Given the description of an element on the screen output the (x, y) to click on. 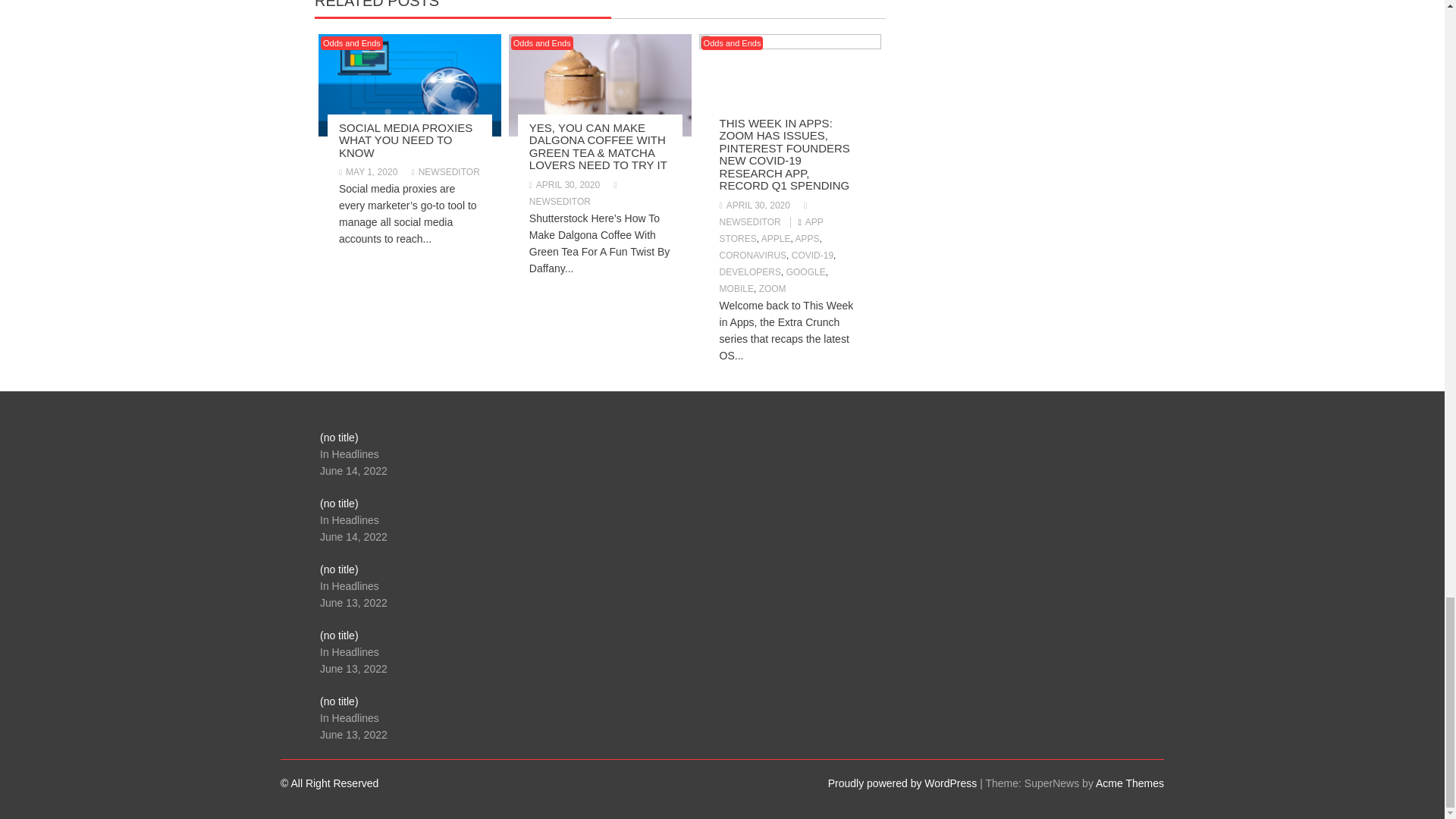
MAY 1, 2020 (368, 172)
NEWSEDITOR (575, 193)
SOCIAL MEDIA PROXIES WHAT YOU NEED TO KNOW (405, 139)
APRIL 30, 2020 (564, 184)
Odds and Ends (351, 42)
Odds and Ends (542, 42)
NEWSEDITOR (446, 172)
